Given the description of an element on the screen output the (x, y) to click on. 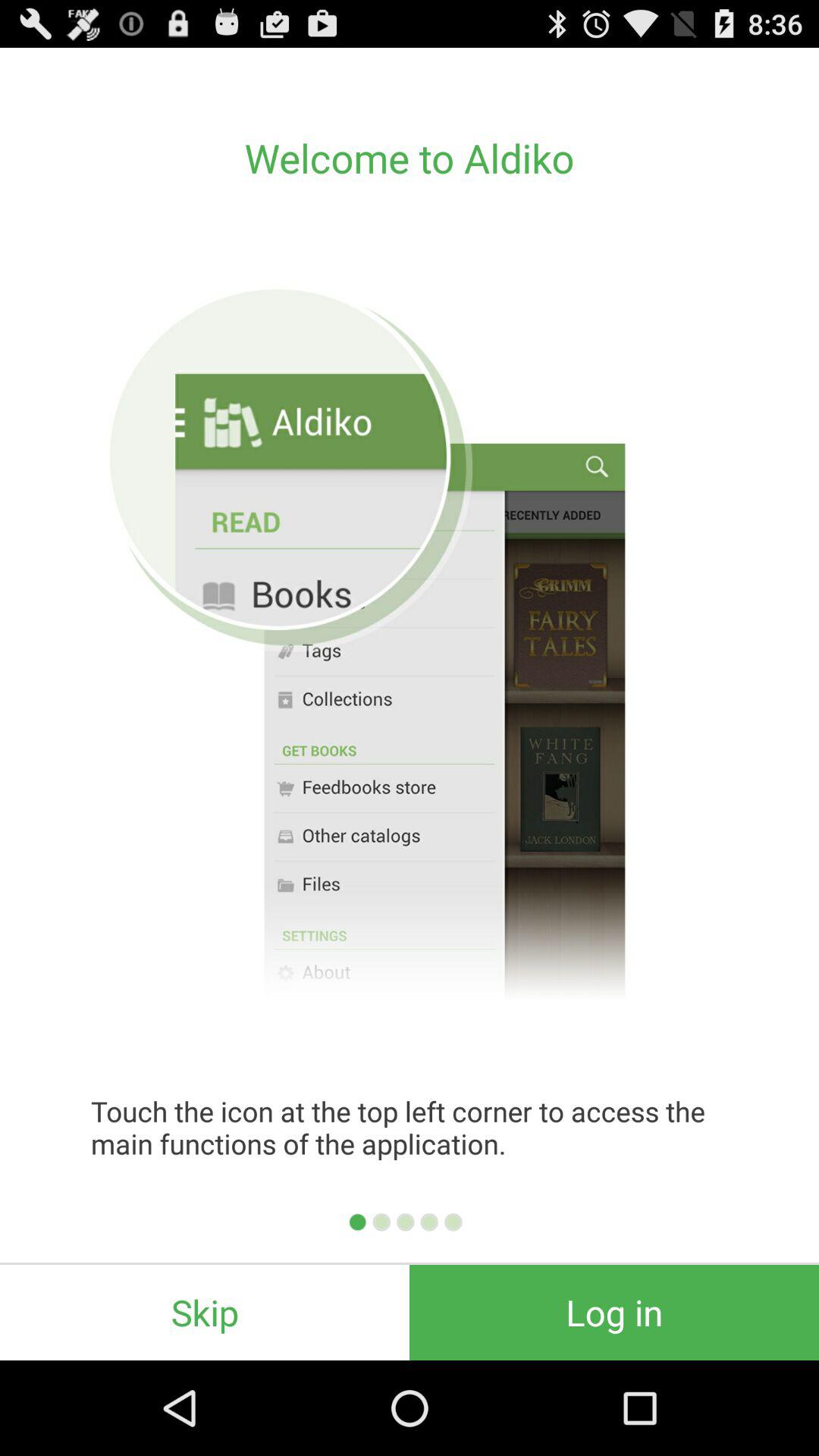
click the skip icon (204, 1312)
